Given the description of an element on the screen output the (x, y) to click on. 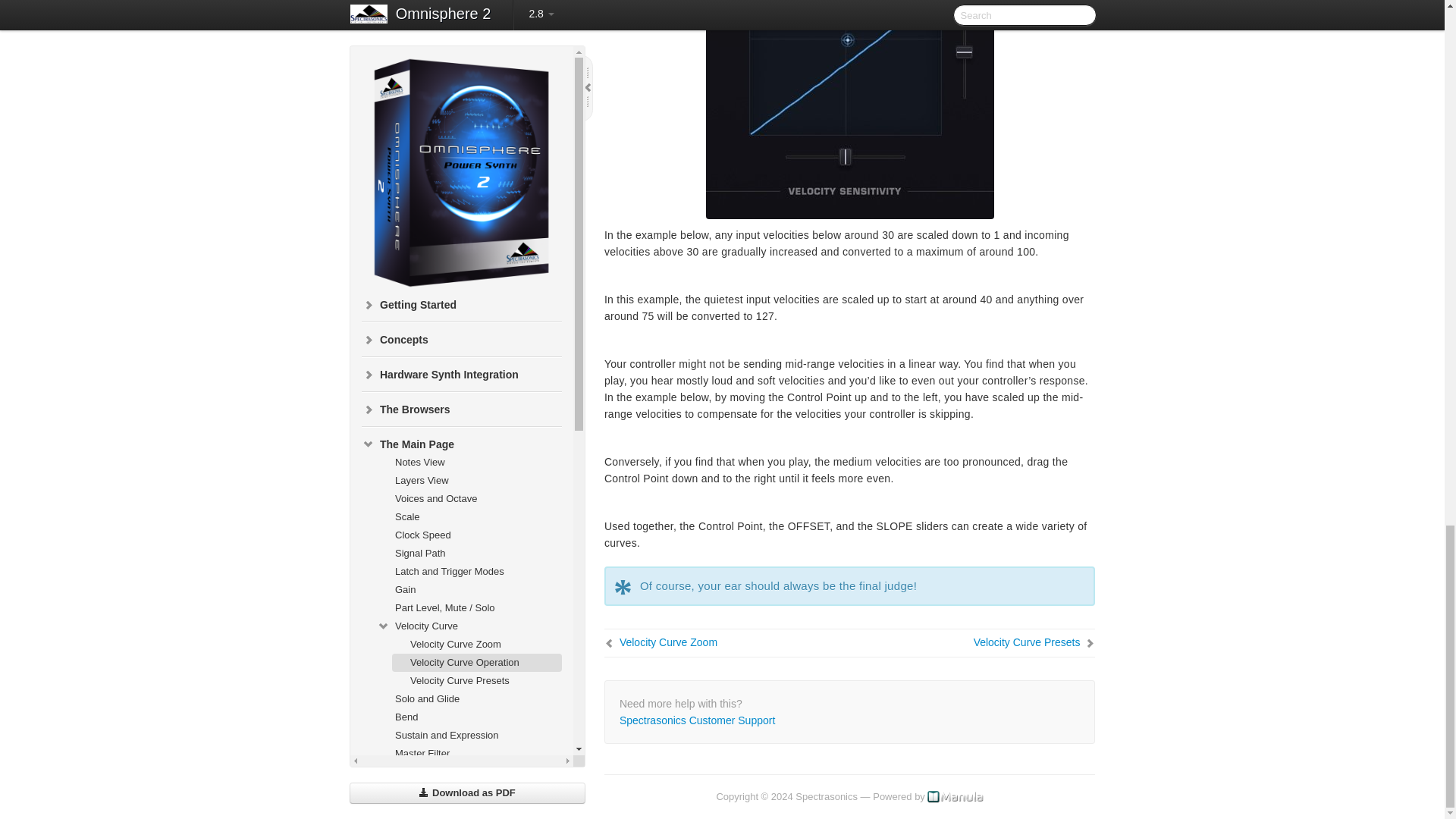
Manula.com (955, 796)
